Given the description of an element on the screen output the (x, y) to click on. 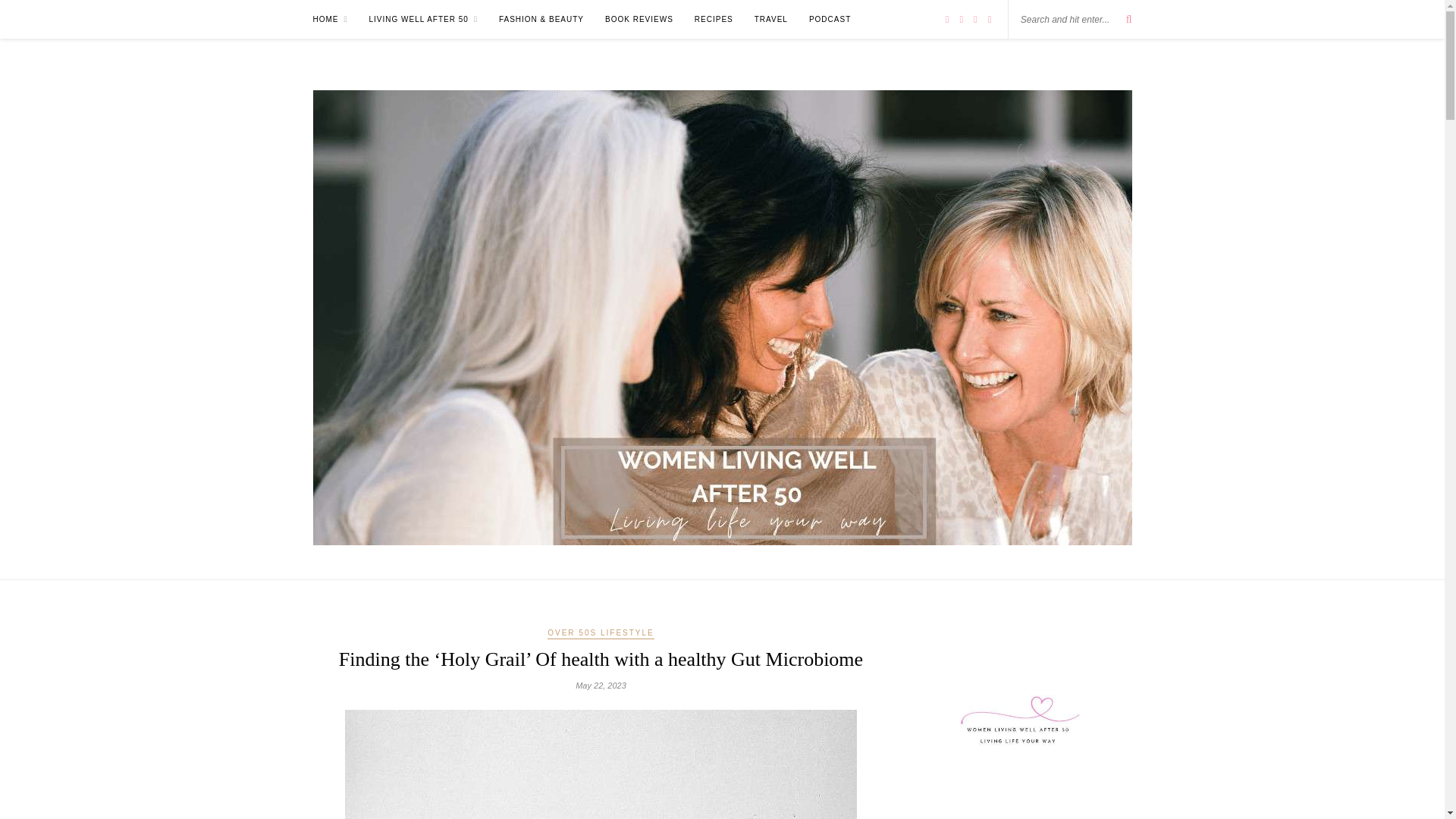
OVER 50S LIFESTYLE (600, 633)
BOOK REVIEWS (638, 19)
LIVING WELL AFTER 50 (423, 19)
Living Well After 50 (423, 19)
RECIPES (713, 19)
PODCAST (829, 19)
HOME (330, 19)
View all posts in Over 50s Lifestyle (600, 633)
